Given the description of an element on the screen output the (x, y) to click on. 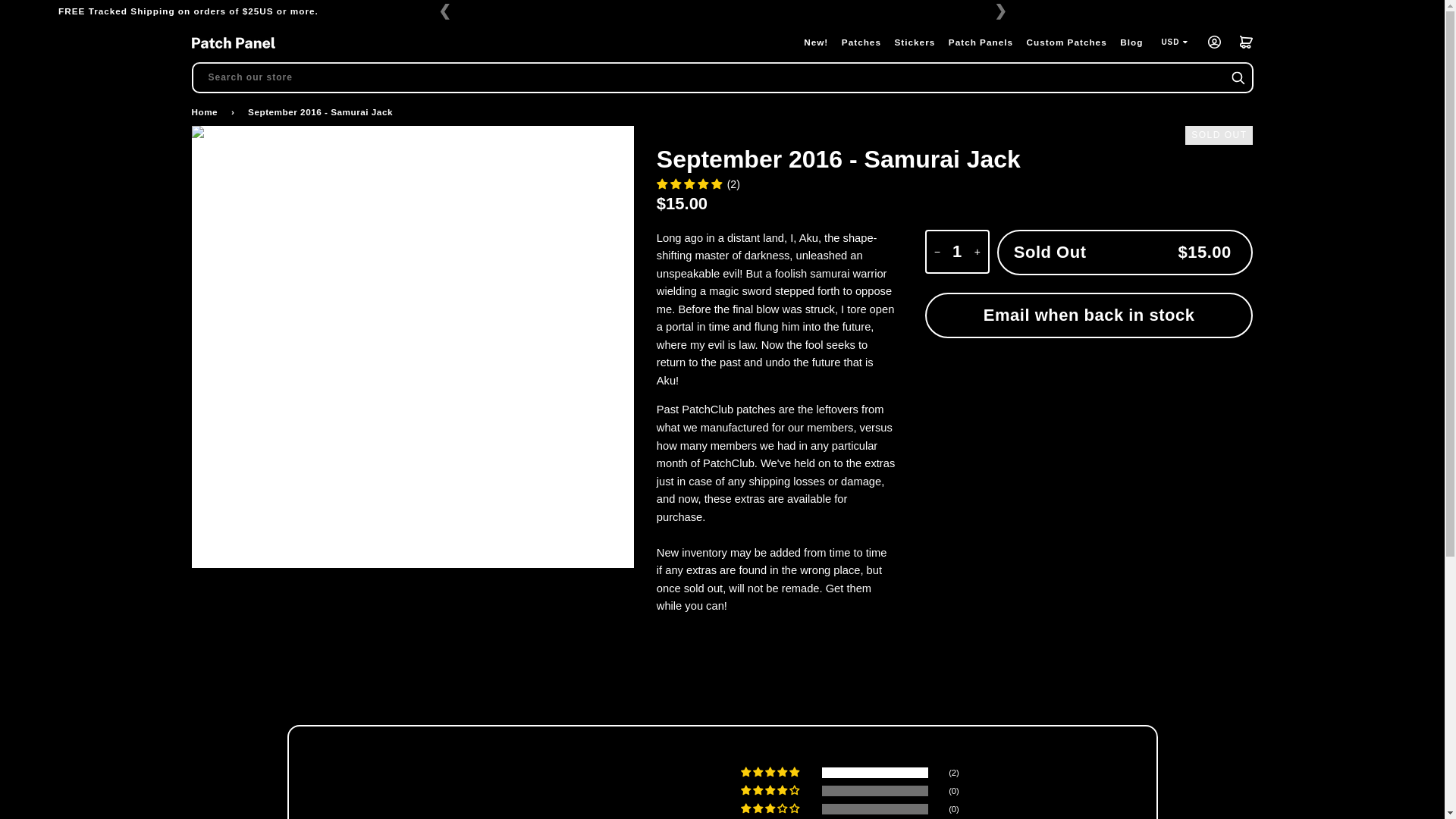
Custom Patches (1067, 42)
Patch Panels (980, 42)
1 (957, 251)
Patches (860, 42)
Stickers (914, 42)
Back to the frontpage (206, 111)
